Given the description of an element on the screen output the (x, y) to click on. 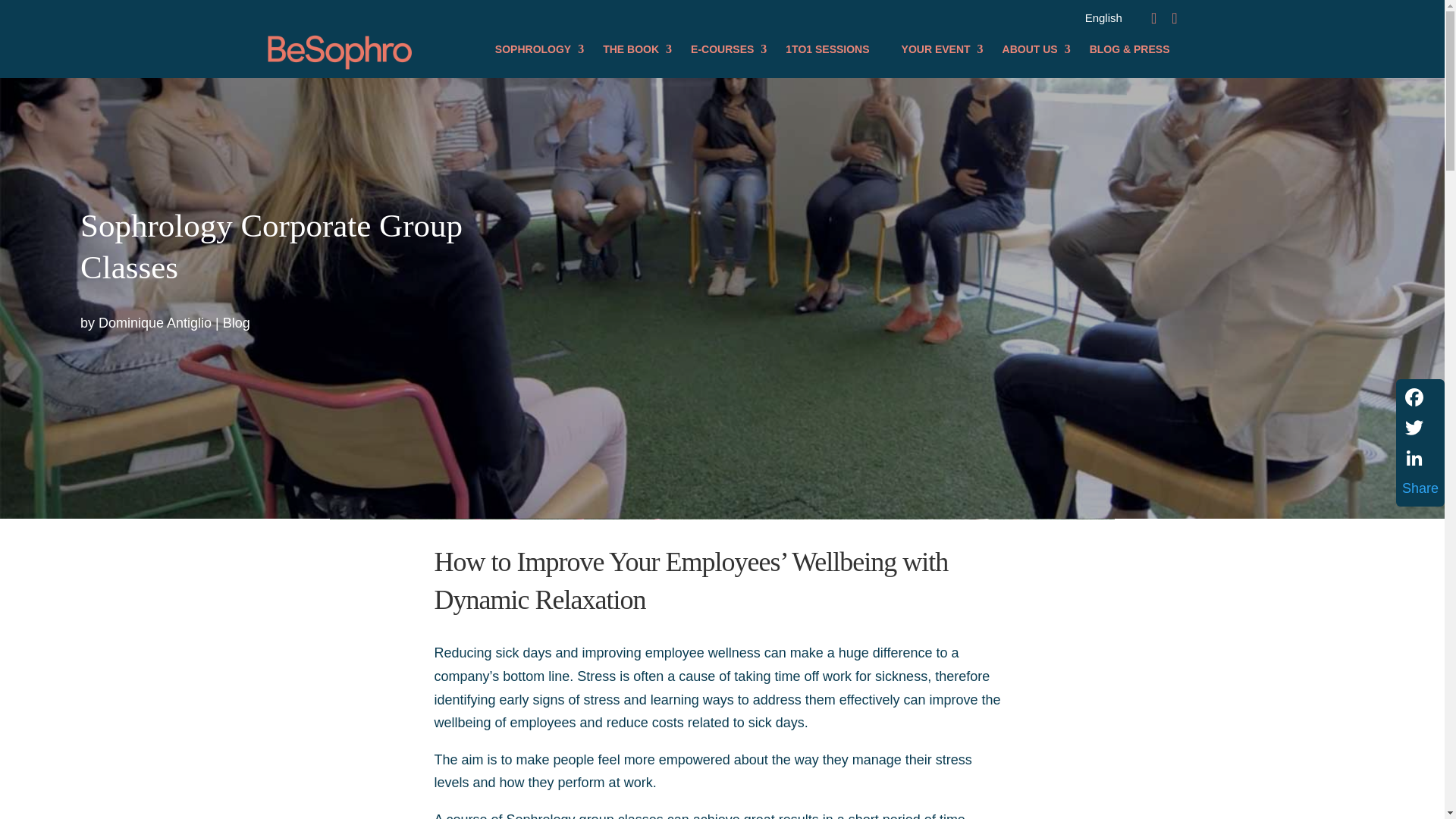
ABOUT US (1029, 48)
Posts by Dominique Antiglio (155, 322)
THE BOOK (630, 48)
SOPHROLOGY (532, 48)
Dominique Antiglio (155, 322)
YOUR EVENT (935, 48)
Facebook (1420, 397)
E-COURSES (721, 48)
Twitter (1420, 427)
LinkedIn (1420, 458)
